Given the description of an element on the screen output the (x, y) to click on. 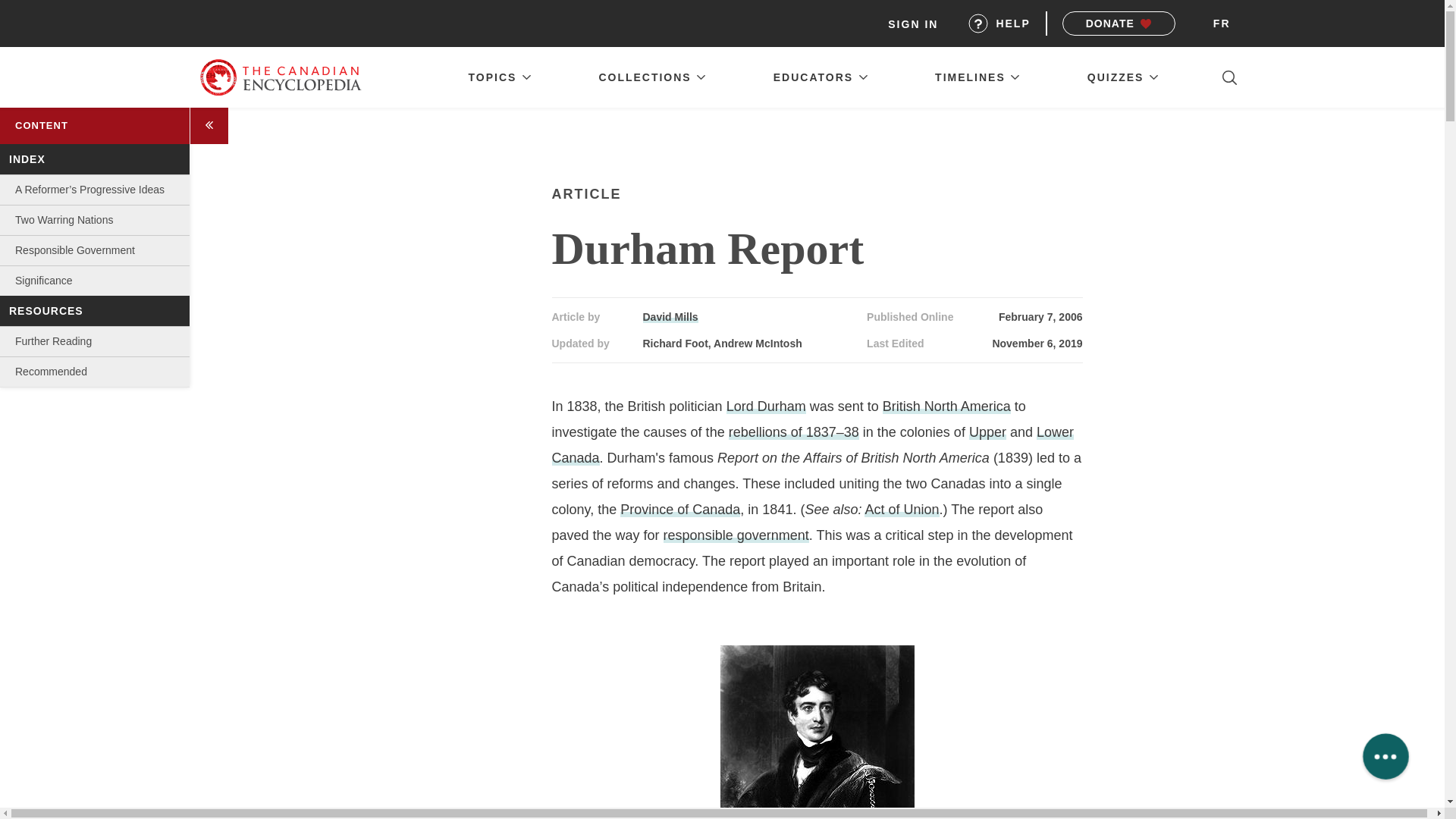
TOPICS (499, 77)
COLLECTIONS (651, 77)
